Given the description of an element on the screen output the (x, y) to click on. 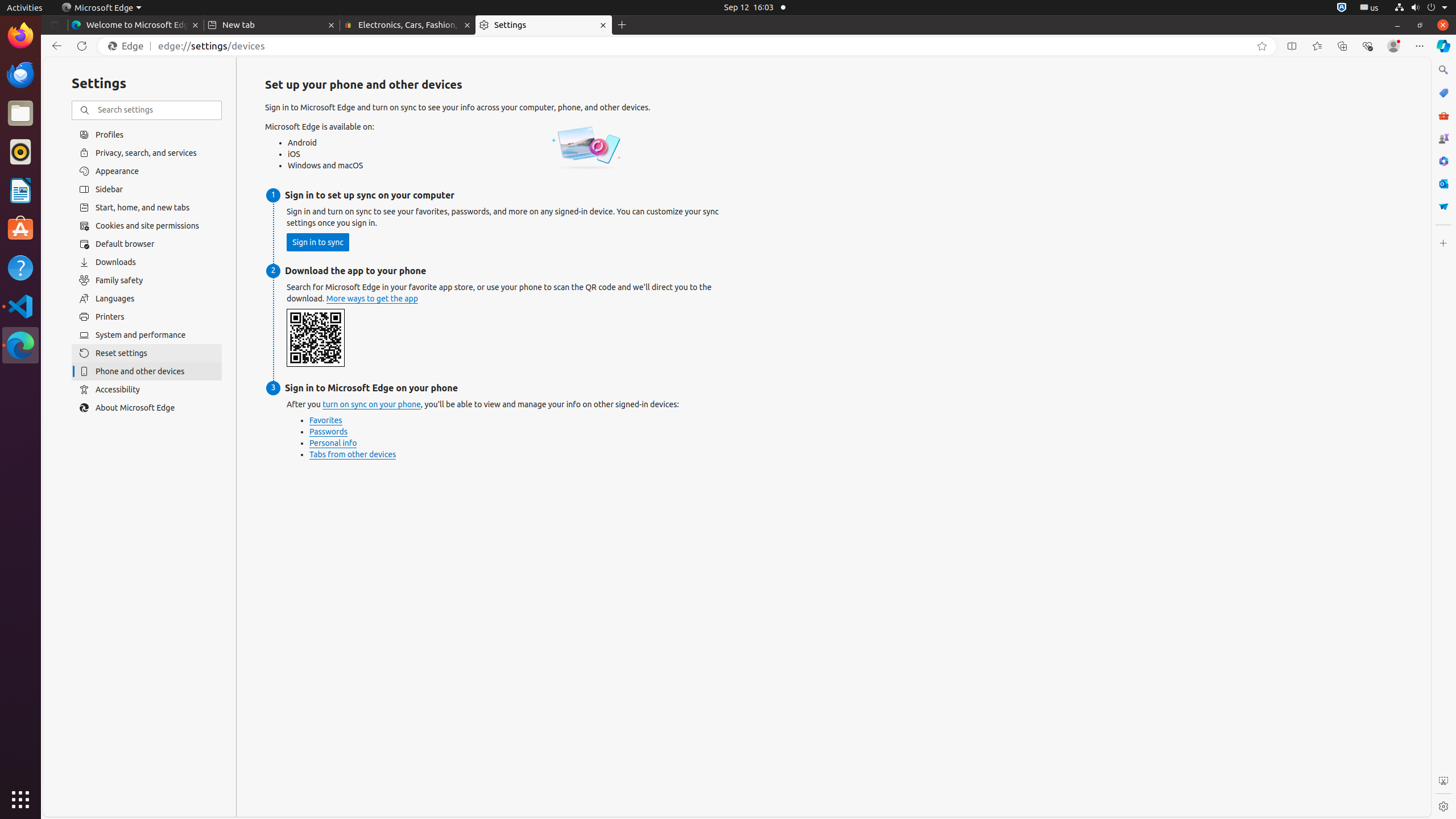
Close tab Element type: push-button (195, 25)
Profile 1 Profile, Please sign in Element type: push-button (1392, 46)
Phone and other devices Element type: tree-item (146, 371)
System and performance Element type: tree-item (146, 334)
About Microsoft Edge Element type: tree-item (146, 407)
